Given the description of an element on the screen output the (x, y) to click on. 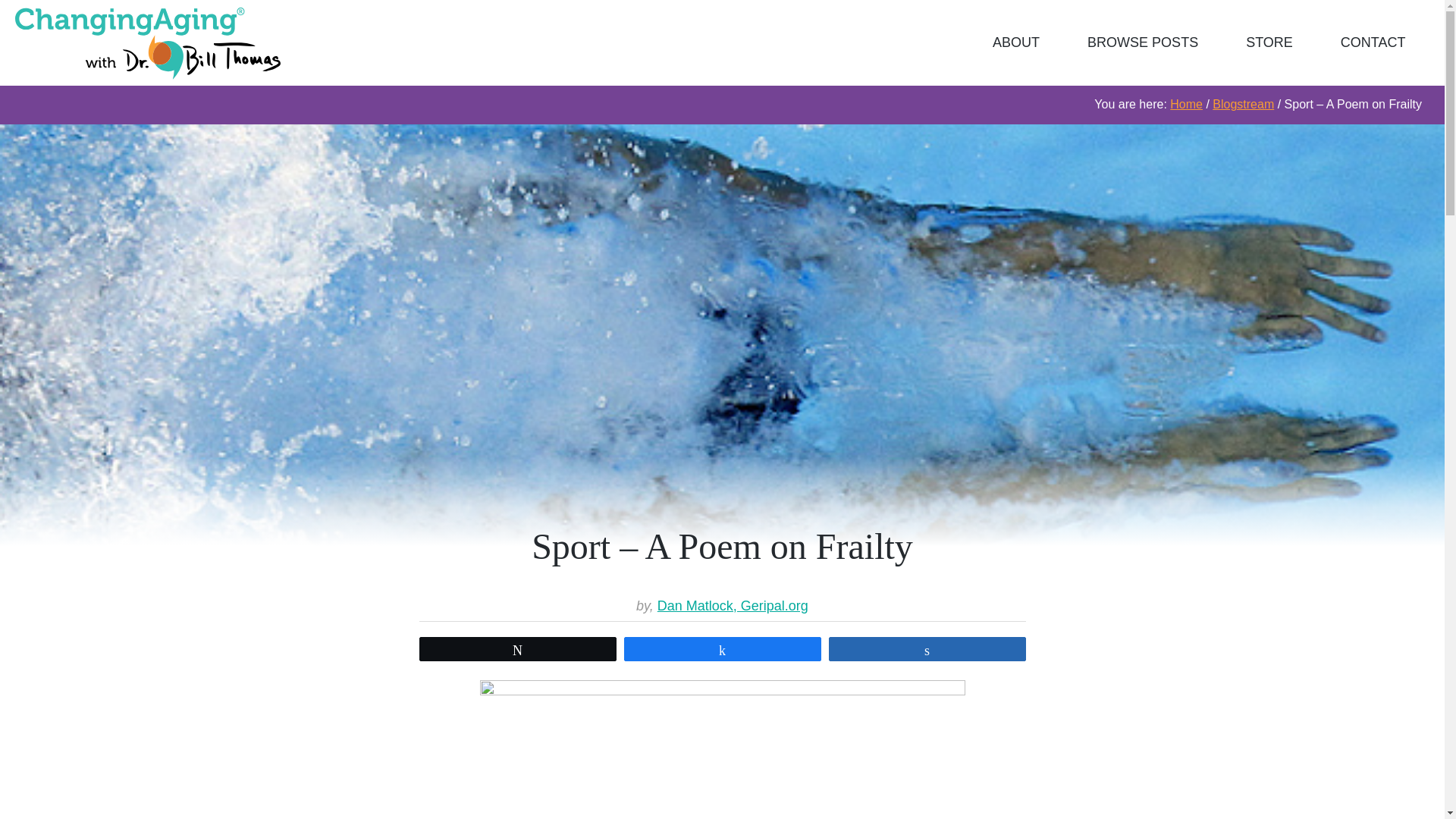
BROWSE POSTS (1143, 42)
Our Team (1016, 42)
CONTACT (1372, 42)
STORE (1270, 42)
Posts by Dan Matlock, Geripal.org (733, 605)
Dan Matlock, Geripal.org (733, 605)
Blogstream (1243, 103)
Home (1186, 103)
Find Out More (1372, 42)
